Given the description of an element on the screen output the (x, y) to click on. 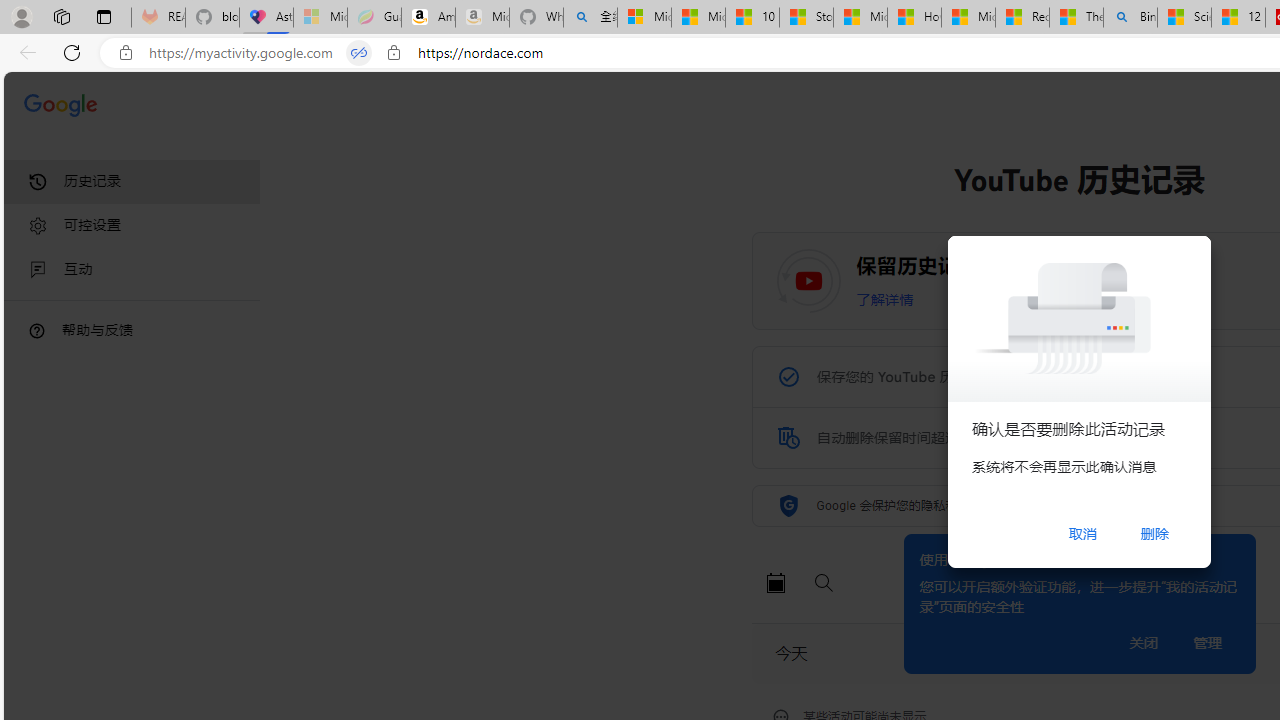
Tabs in split screen (358, 53)
Bing (1130, 17)
Asthma Inhalers: Names and Types (266, 17)
